Given the description of an element on the screen output the (x, y) to click on. 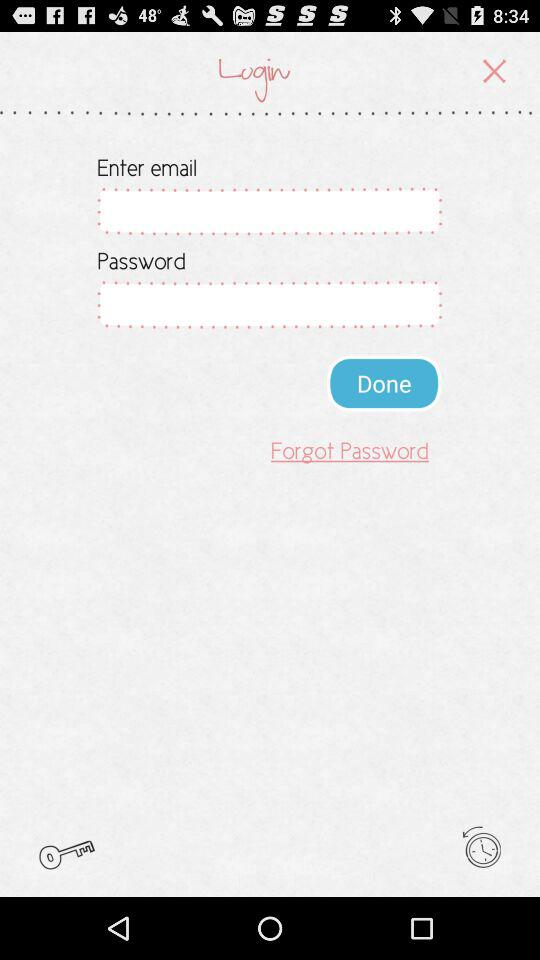
flip until forgot password (350, 450)
